Given the description of an element on the screen output the (x, y) to click on. 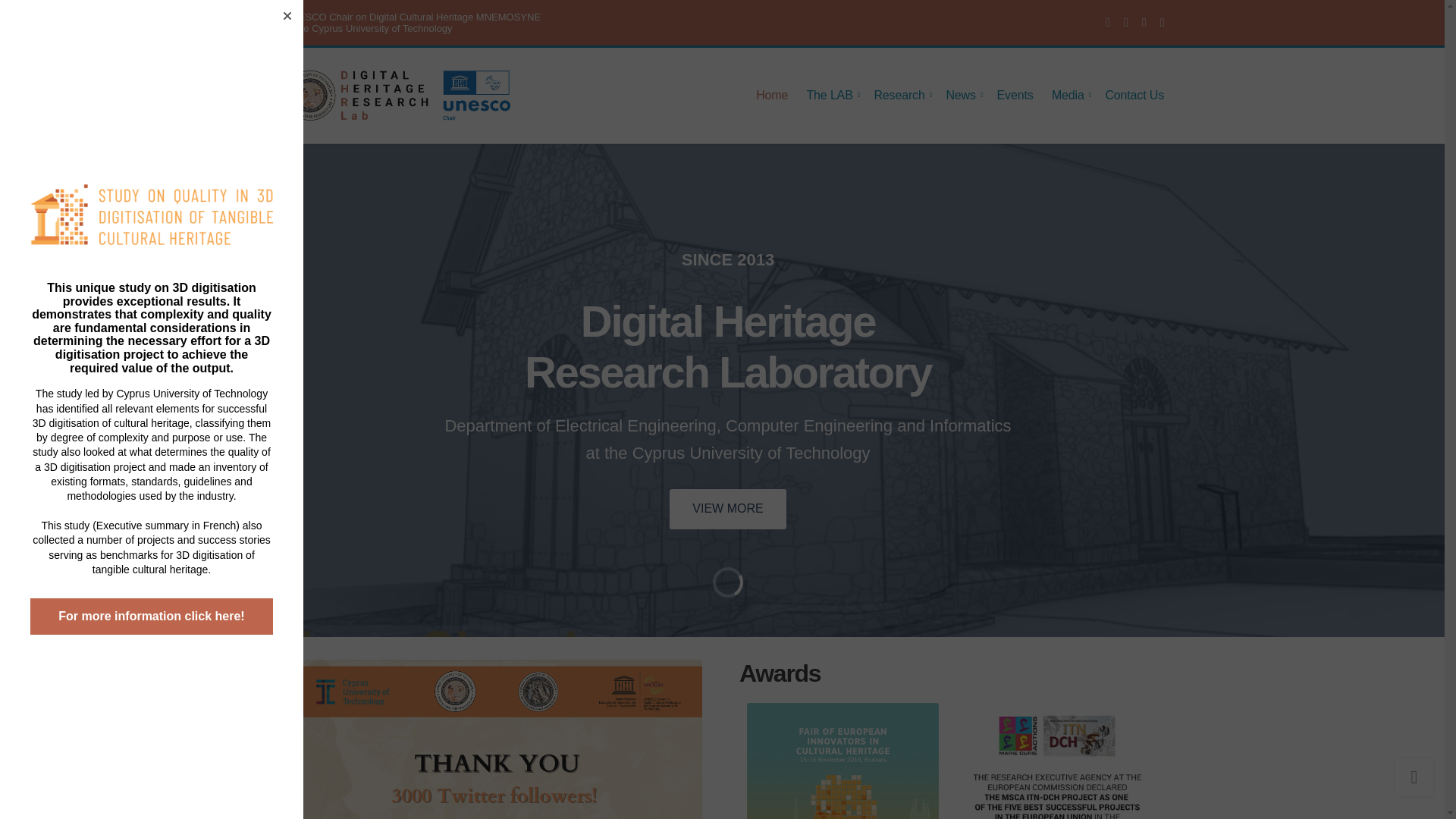
The LAB (831, 95)
Accessibility Tools (19, 428)
YouTube (1144, 22)
Facebook (1107, 22)
Home (19, 428)
Research (771, 95)
Accessibility Tools (900, 95)
Twitter (19, 428)
Instagram (1125, 22)
